Given the description of an element on the screen output the (x, y) to click on. 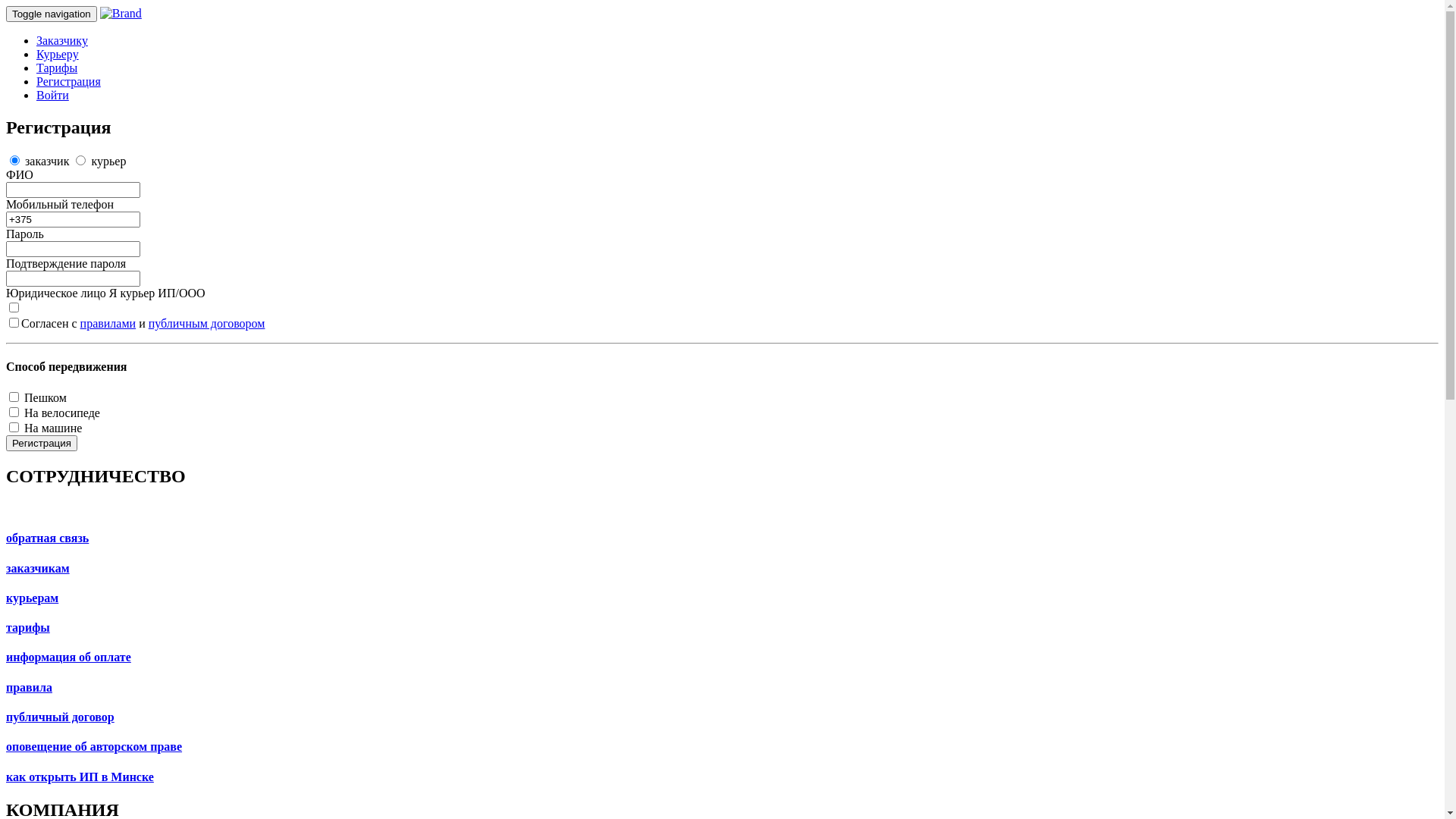
Toggle navigation Element type: text (51, 13)
